Given the description of an element on the screen output the (x, y) to click on. 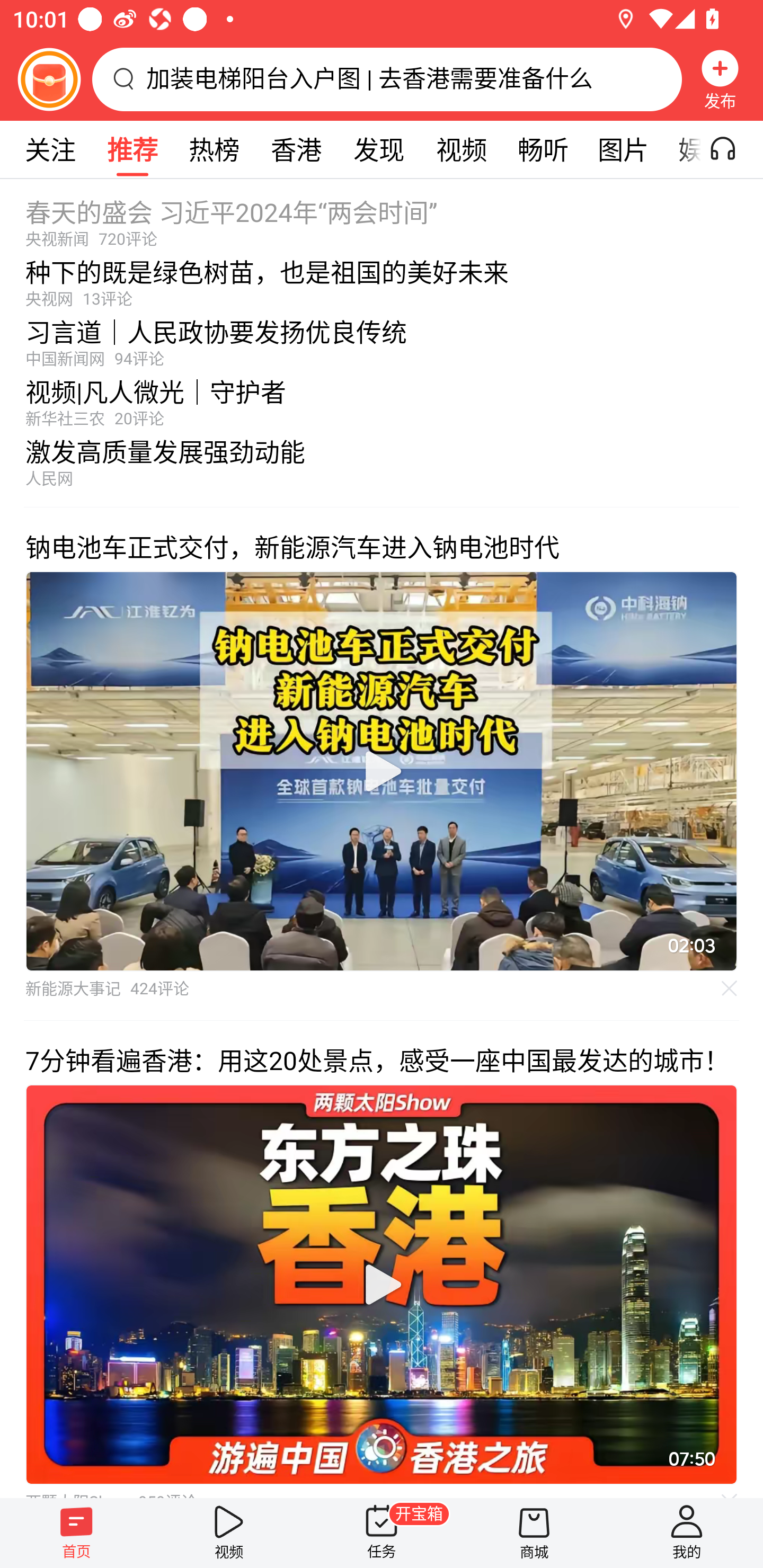
阅读赚金币 (48, 79)
加装电梯阳台入户图 | 去香港需要准备什么 搜索框，加装电梯阳台入户图 | 去香港需要准备什么 (387, 79)
发布 发布，按钮 (720, 78)
关注 (50, 149)
推荐 (132, 149)
热榜 (213, 149)
香港 (295, 149)
发现 (378, 149)
视频 (461, 149)
畅听 (542, 149)
图片 (623, 149)
听一听开关 (732, 149)
视频|凡人微光｜守护者新华社三农20评论 文章 视频|凡人微光｜守护者 新华社三农20评论 (381, 398)
激发高质量发展强劲动能人民网 文章 激发高质量发展强劲动能 人民网 (381, 467)
播放视频 视频播放器，双击屏幕打开播放控制 (381, 771)
播放视频 (381, 771)
不感兴趣 (729, 987)
播放视频 视频播放器，双击屏幕打开播放控制 (381, 1284)
播放视频 (381, 1284)
首页 (76, 1532)
视频 (228, 1532)
任务 开宝箱 (381, 1532)
商城 (533, 1532)
我的 (686, 1532)
